Given the description of an element on the screen output the (x, y) to click on. 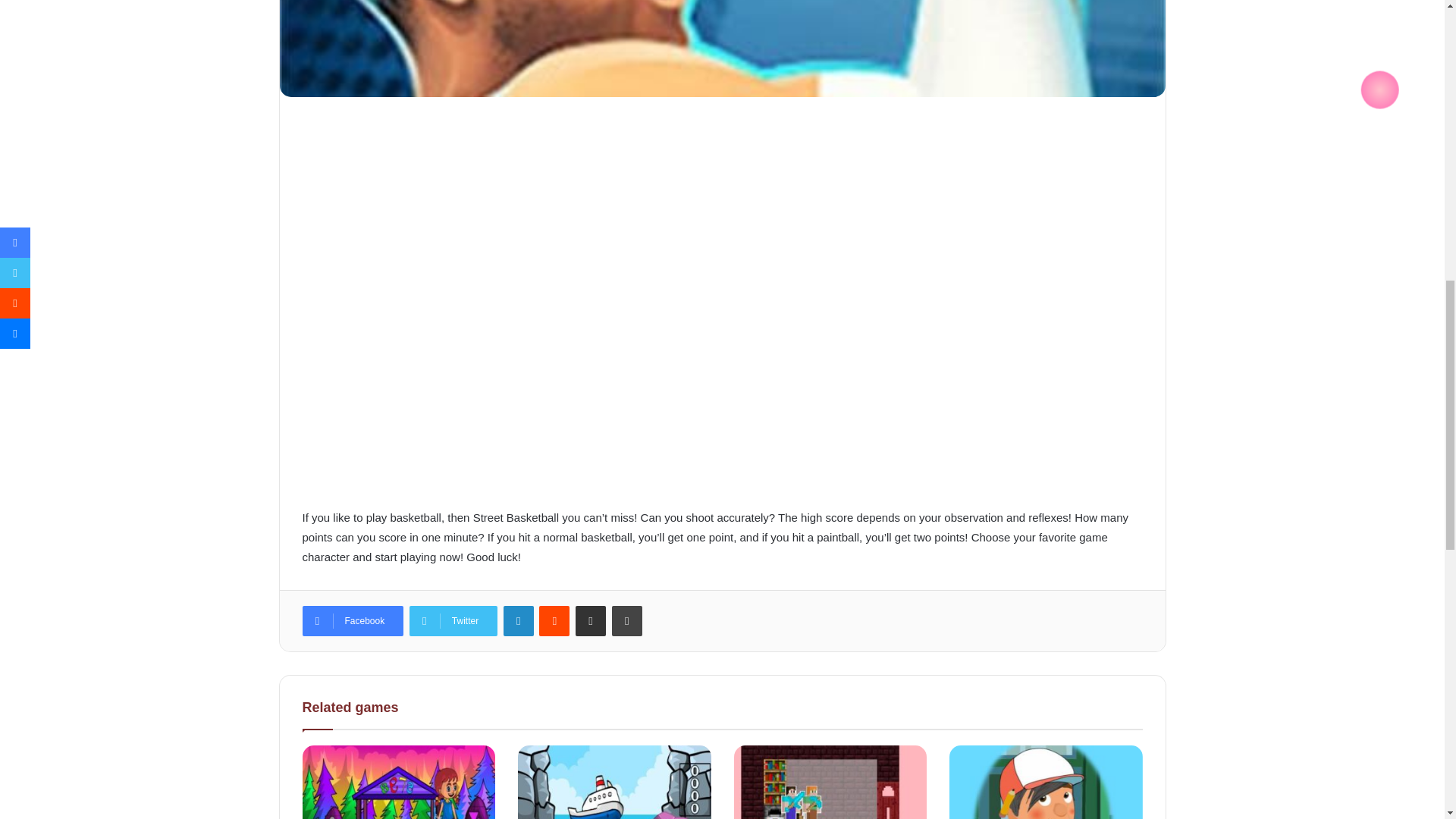
Facebook (352, 621)
Share via Email (590, 621)
LinkedIn (518, 621)
Twitter (453, 621)
Twitter (453, 621)
Reddit (553, 621)
Print (626, 621)
Facebook (352, 621)
Reddit (553, 621)
Share via Email (590, 621)
